Given the description of an element on the screen output the (x, y) to click on. 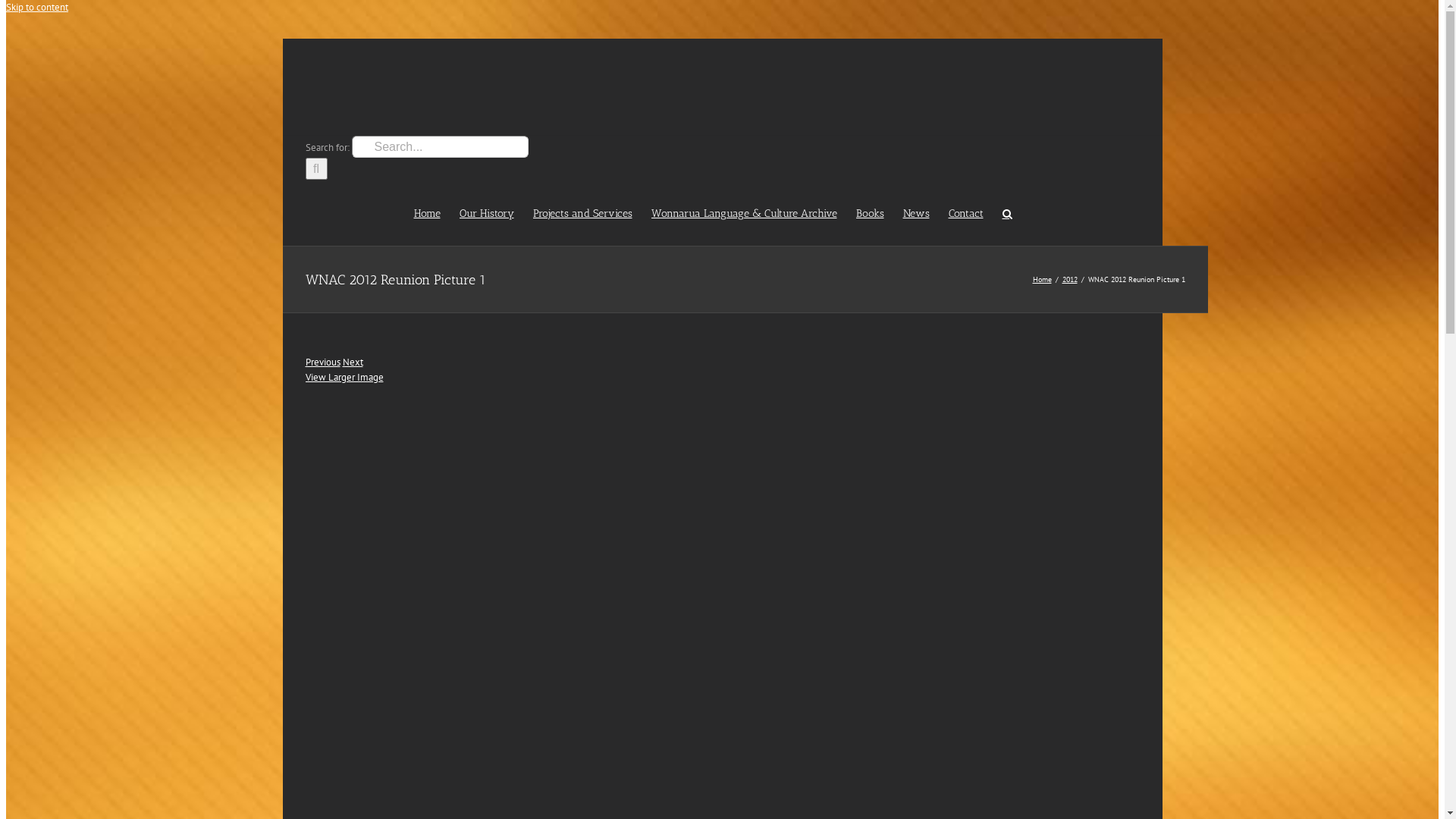
Search Element type: hover (1007, 211)
Skip to content Element type: text (37, 6)
Projects and Services Element type: text (581, 211)
News Element type: text (915, 211)
Our History Element type: text (486, 211)
Contact Element type: text (964, 211)
Home Element type: text (1041, 279)
Books Element type: text (869, 211)
Next Element type: text (352, 361)
Wonnarua Language & Culture Archive Element type: text (743, 211)
Previous Element type: text (321, 361)
2012 Element type: text (1068, 279)
Home Element type: text (427, 211)
